Given the description of an element on the screen output the (x, y) to click on. 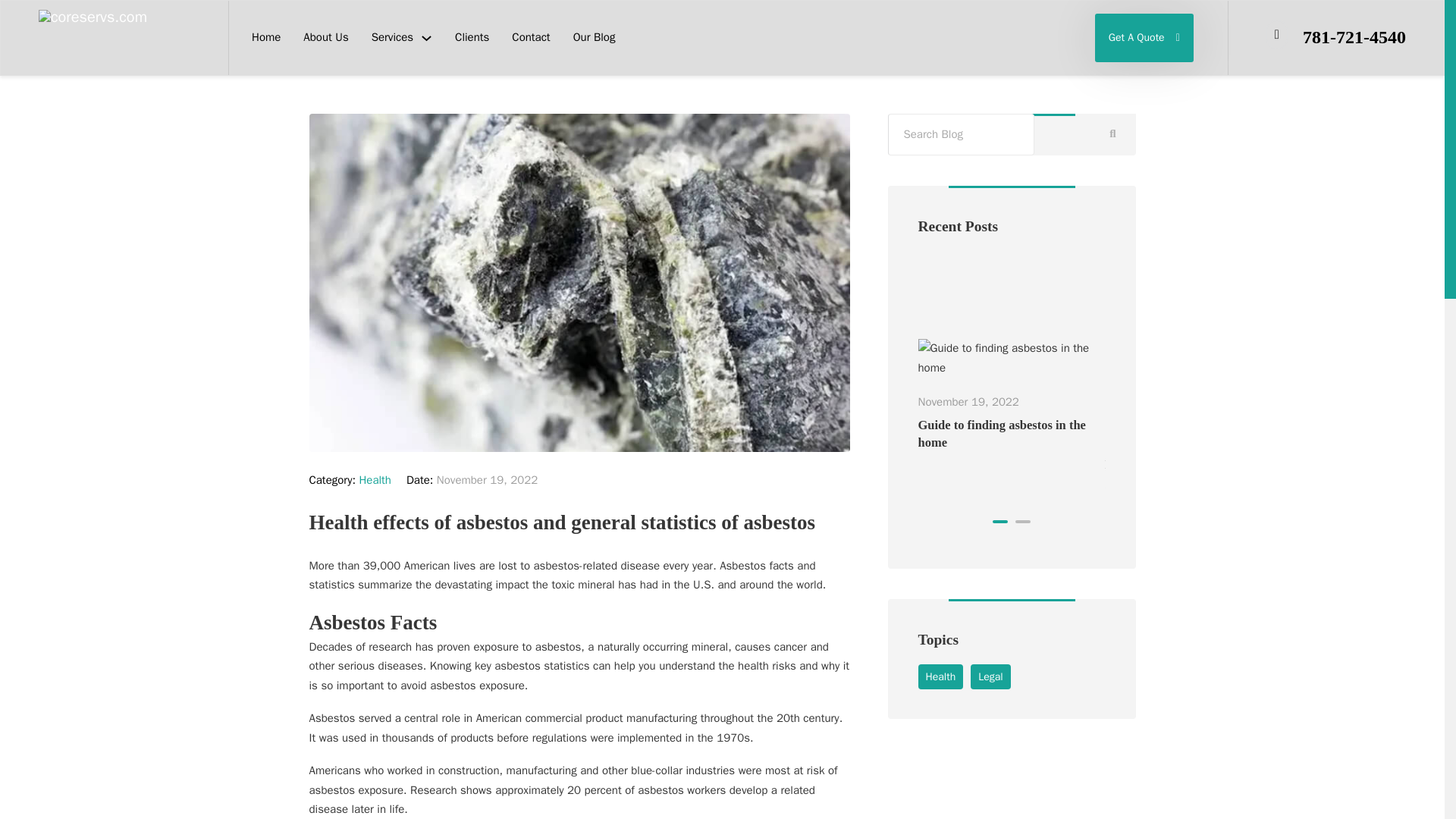
Our Blog (594, 37)
Clients (471, 37)
Services (392, 37)
Get A Quote (1143, 37)
Health (939, 676)
Home (266, 37)
Contact (531, 37)
781-721-4540 (1354, 36)
Health (374, 479)
About Us (324, 37)
Legal (990, 676)
